Given the description of an element on the screen output the (x, y) to click on. 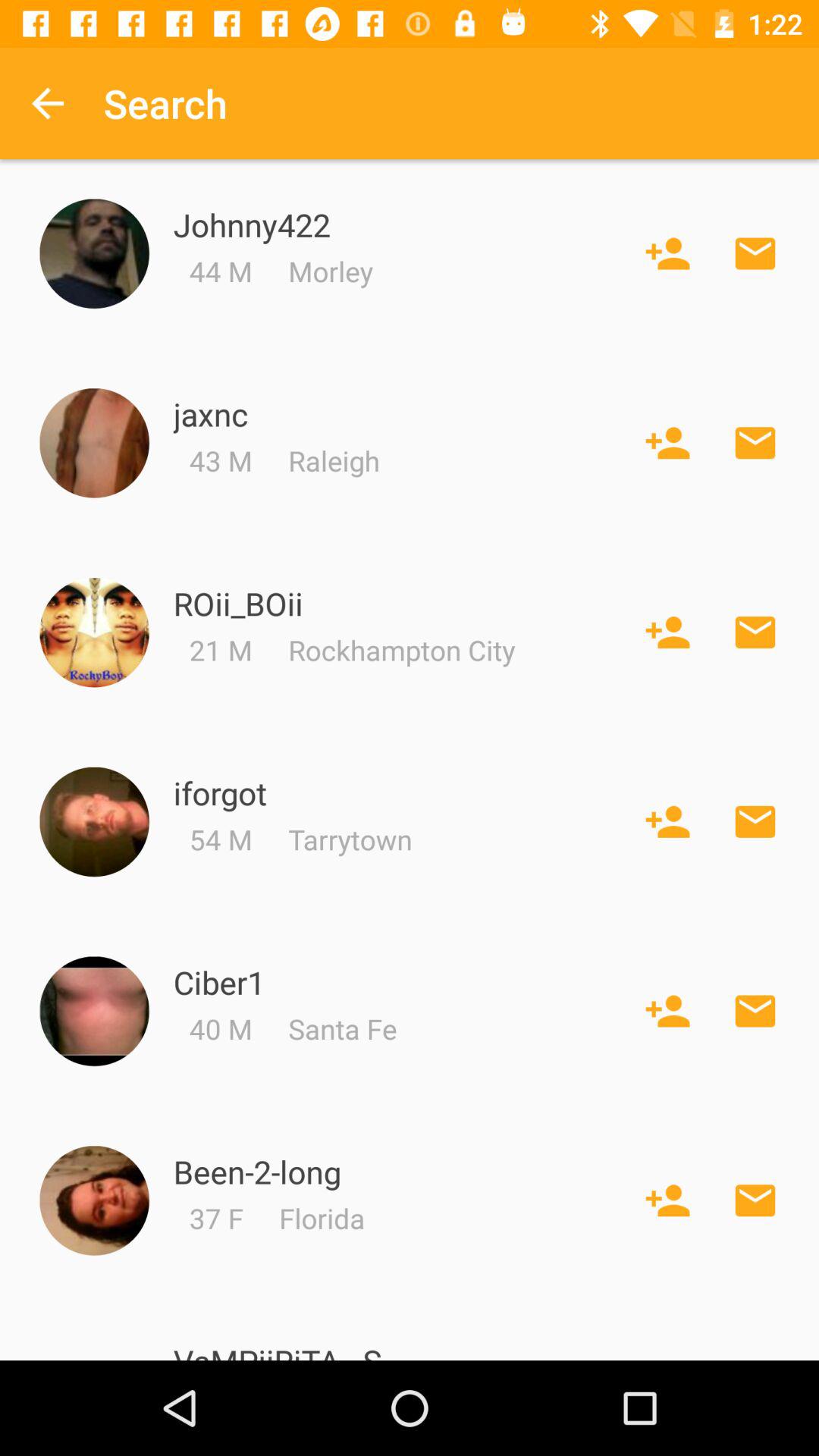
profile picture (94, 632)
